Given the description of an element on the screen output the (x, y) to click on. 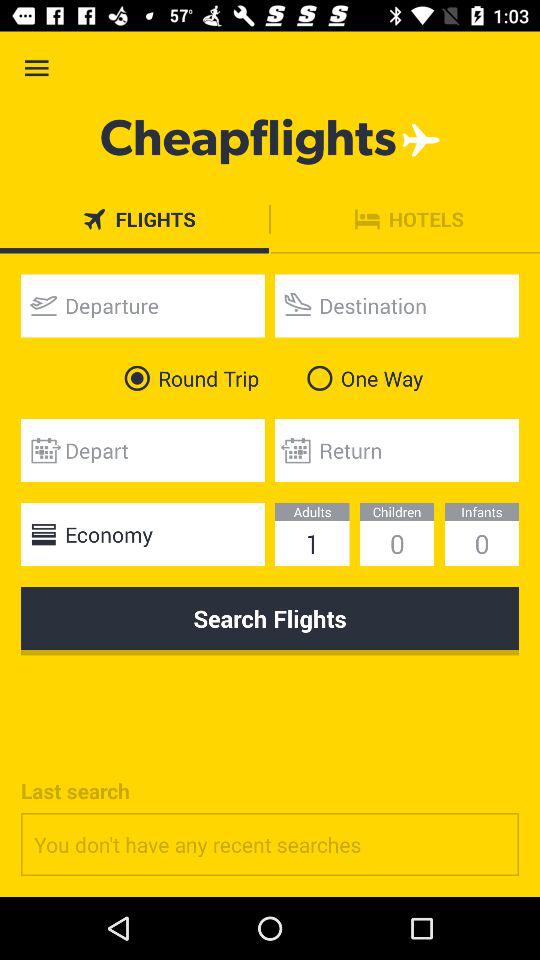
turn off the item next to the adults icon (142, 534)
